Given the description of an element on the screen output the (x, y) to click on. 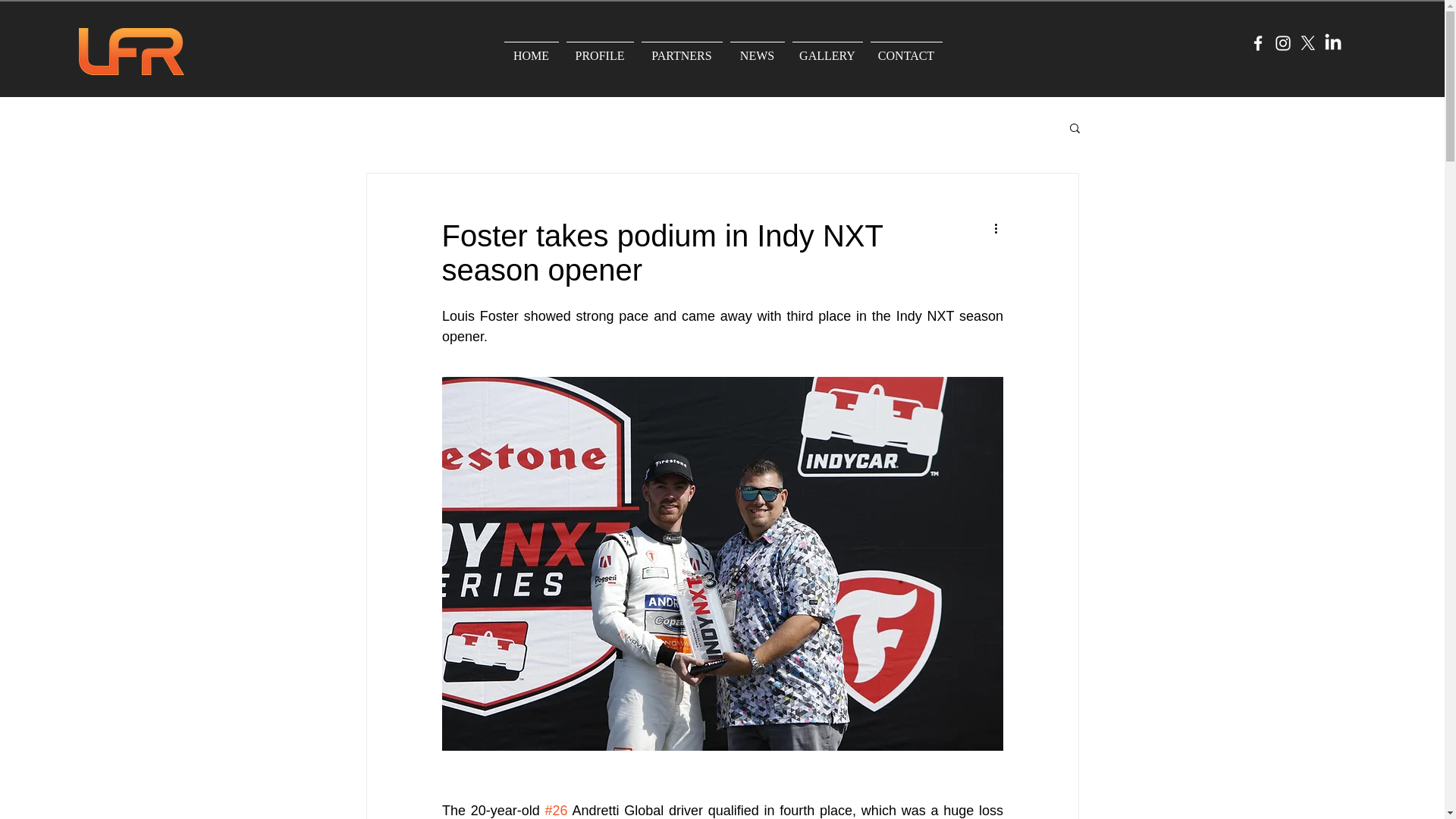
PROFILE (599, 48)
HOME (531, 48)
NEWS (757, 48)
CONTACT (905, 48)
PARTNERS (681, 48)
GALLERY (827, 48)
